Given the description of an element on the screen output the (x, y) to click on. 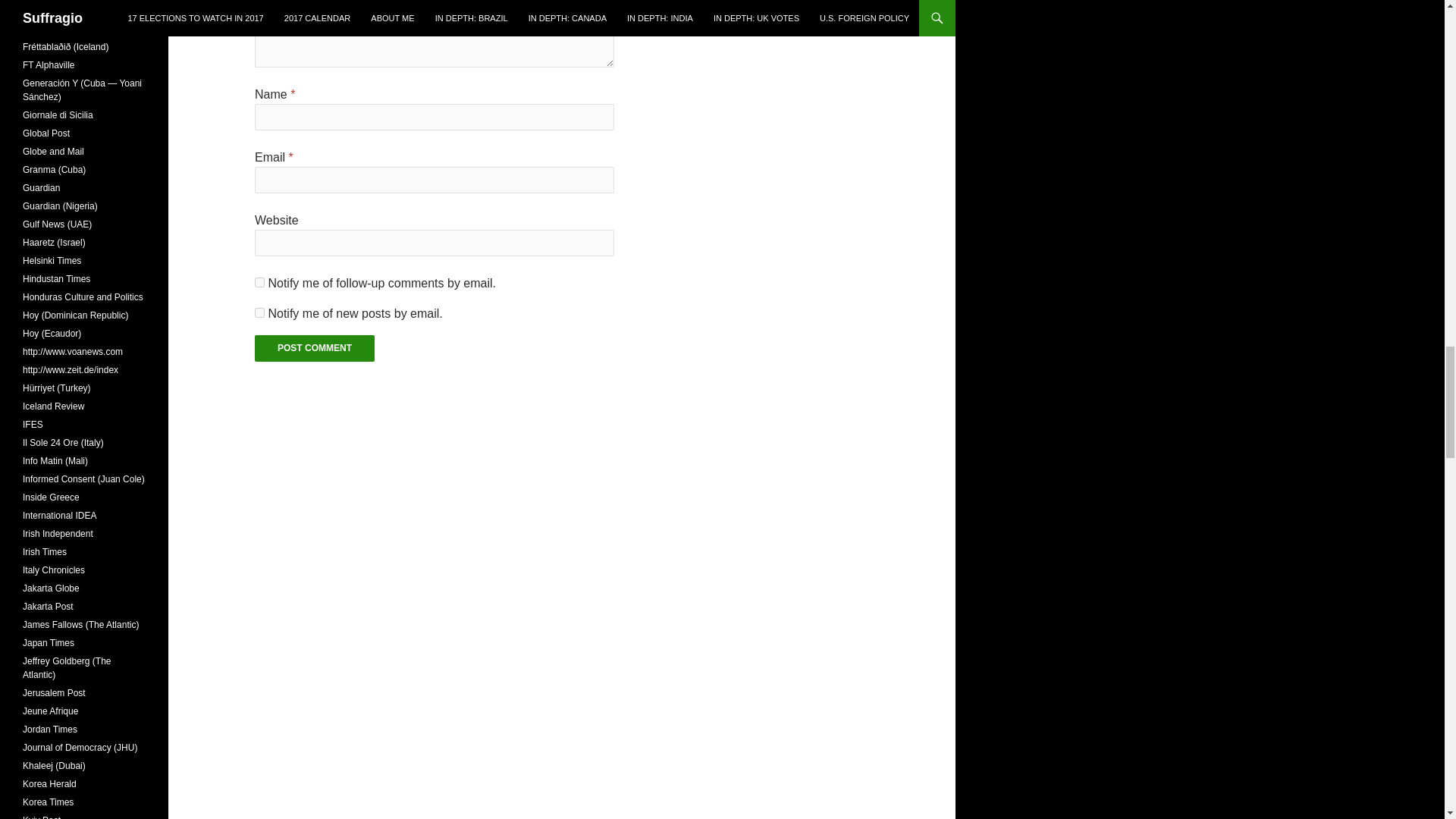
Post Comment (314, 347)
subscribe (259, 282)
subscribe (259, 312)
